Given the description of an element on the screen output the (x, y) to click on. 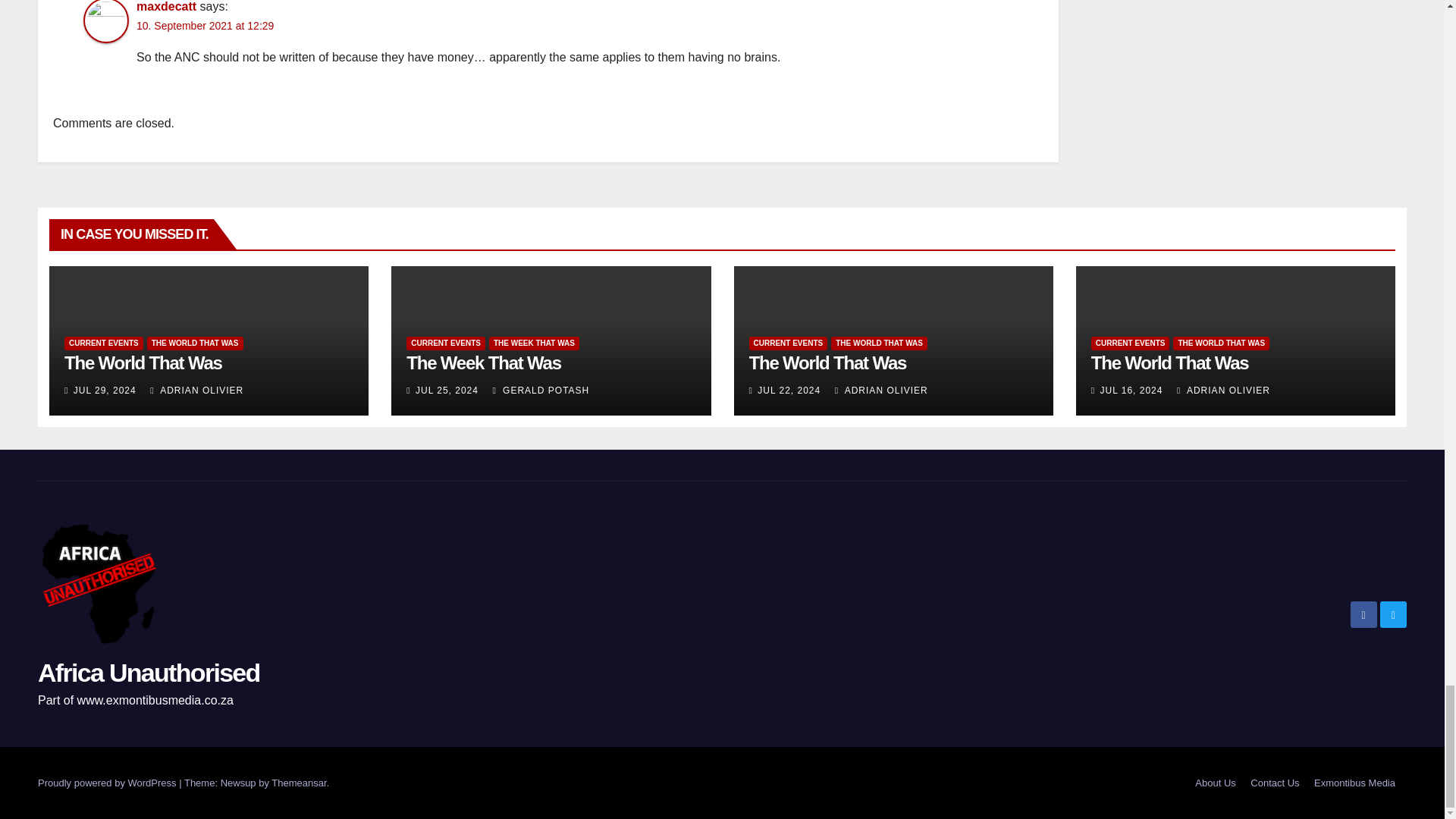
10. September 2021 at 12:29 (204, 26)
Permalink to: The World That Was (828, 362)
Permalink to: The Week That Was (483, 362)
maxdecatt (166, 6)
Permalink to: The World That Was (1169, 362)
Permalink to: The World That Was (143, 362)
